Given the description of an element on the screen output the (x, y) to click on. 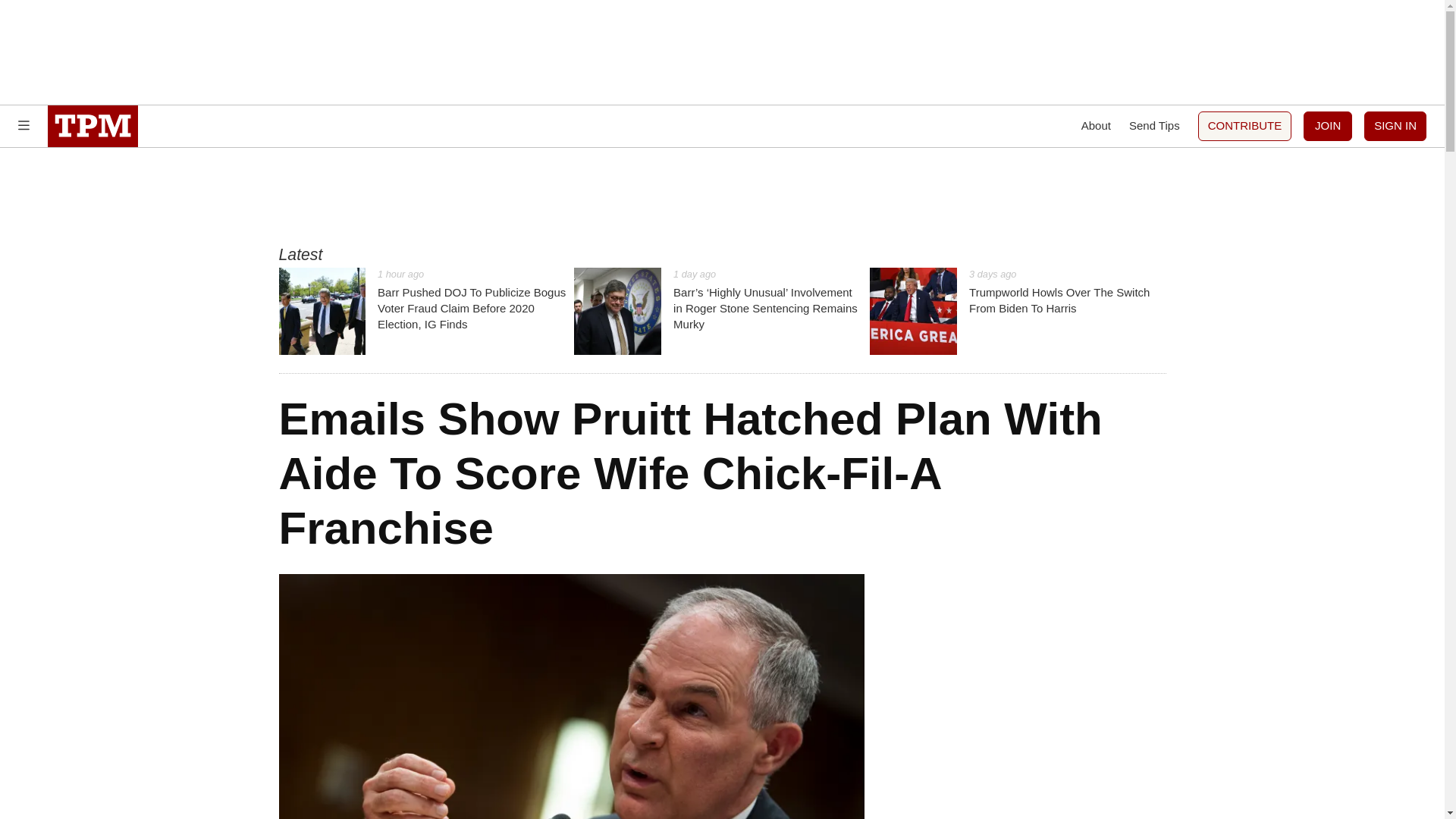
JOIN (1327, 125)
Send Tips (1154, 125)
CONTRIBUTE (1245, 125)
SIGN IN (1395, 125)
About (1095, 125)
3rd party ad content (721, 196)
3rd party ad content (721, 52)
